Given the description of an element on the screen output the (x, y) to click on. 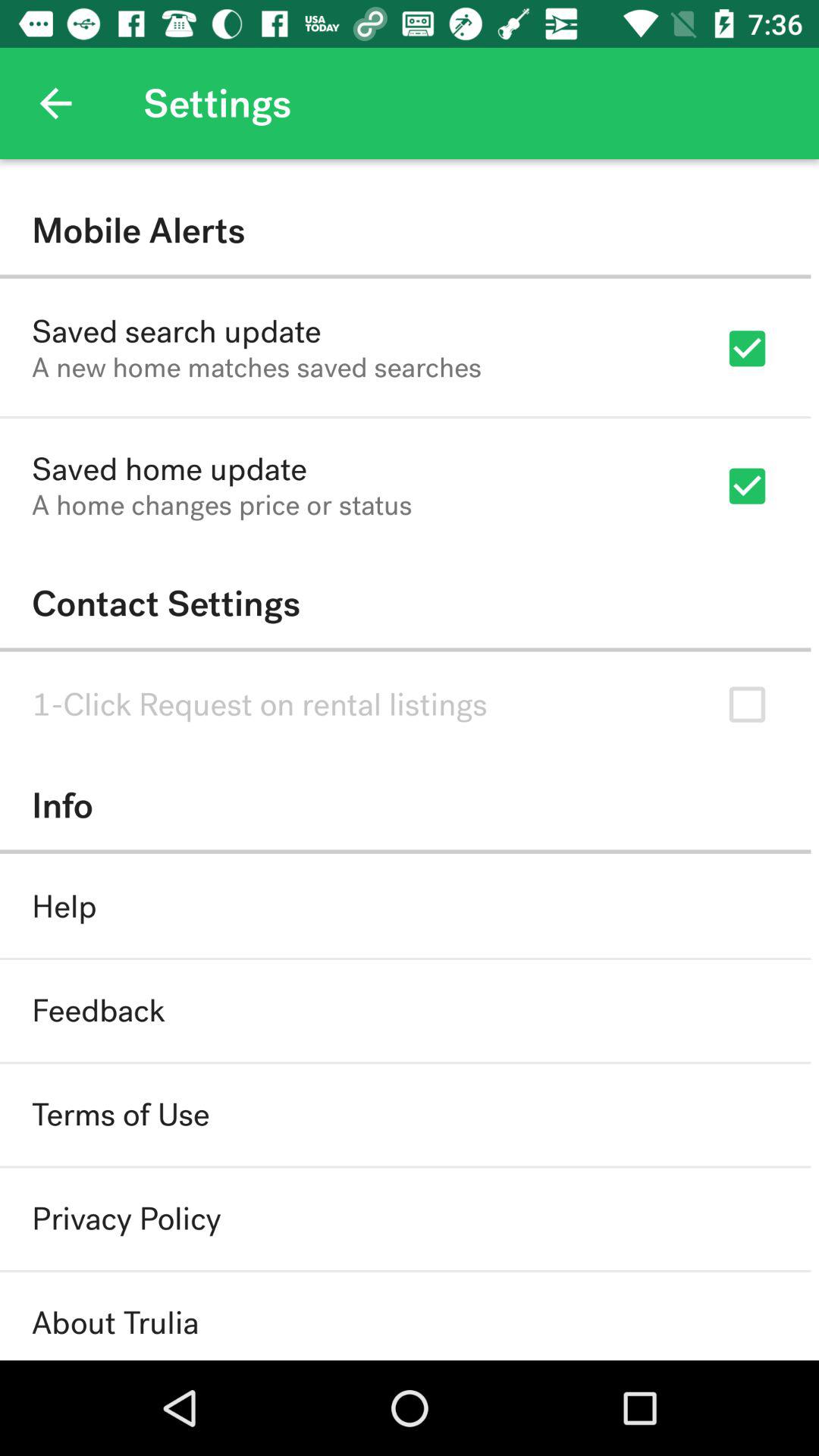
turn off the contact settings icon (405, 603)
